Given the description of an element on the screen output the (x, y) to click on. 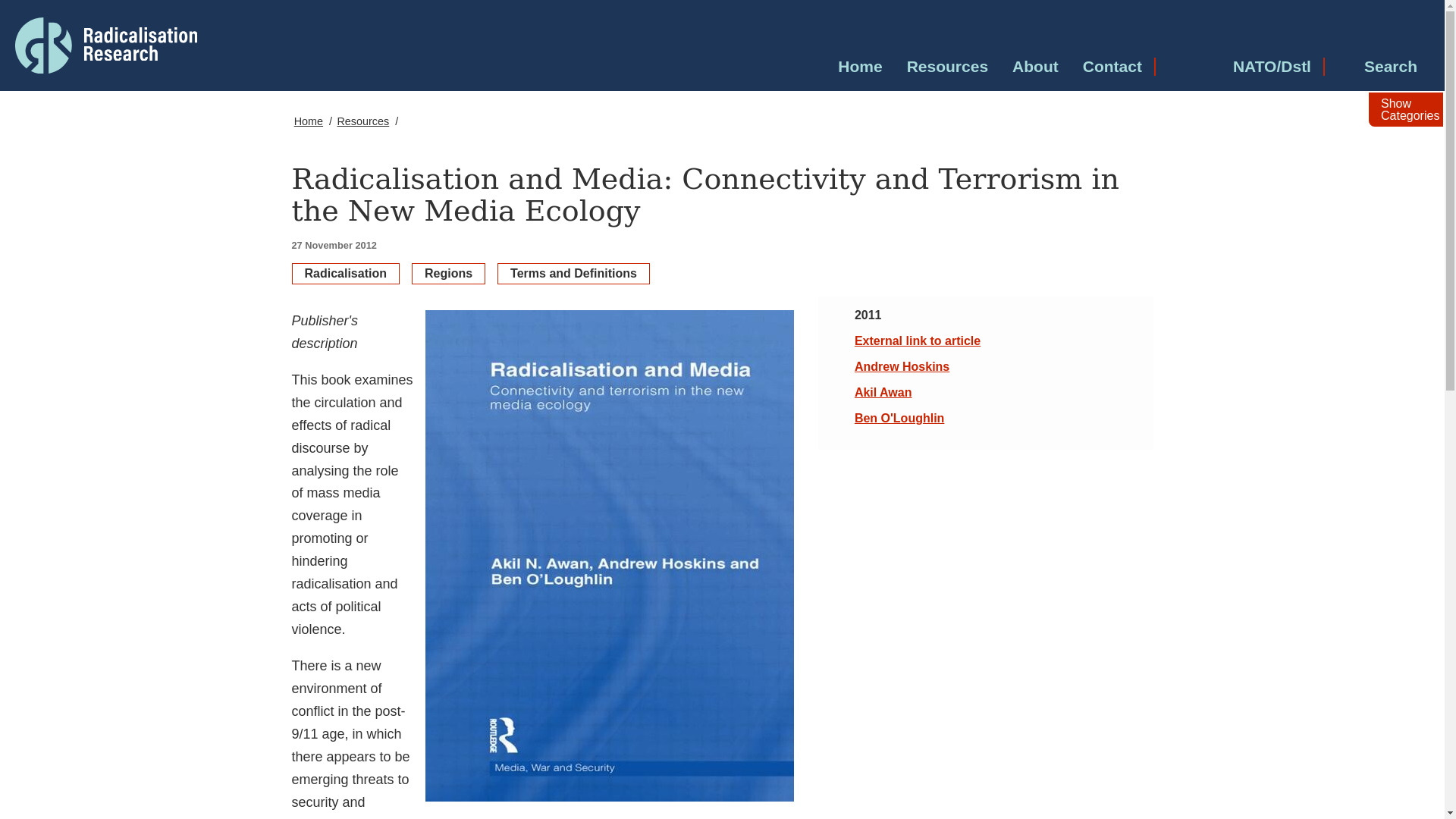
Contact (1112, 66)
About (1034, 66)
Radicalisation Research (105, 45)
Radicalisation Research (141, 44)
Resources (947, 66)
Search (1376, 66)
Home (860, 66)
